Given the description of an element on the screen output the (x, y) to click on. 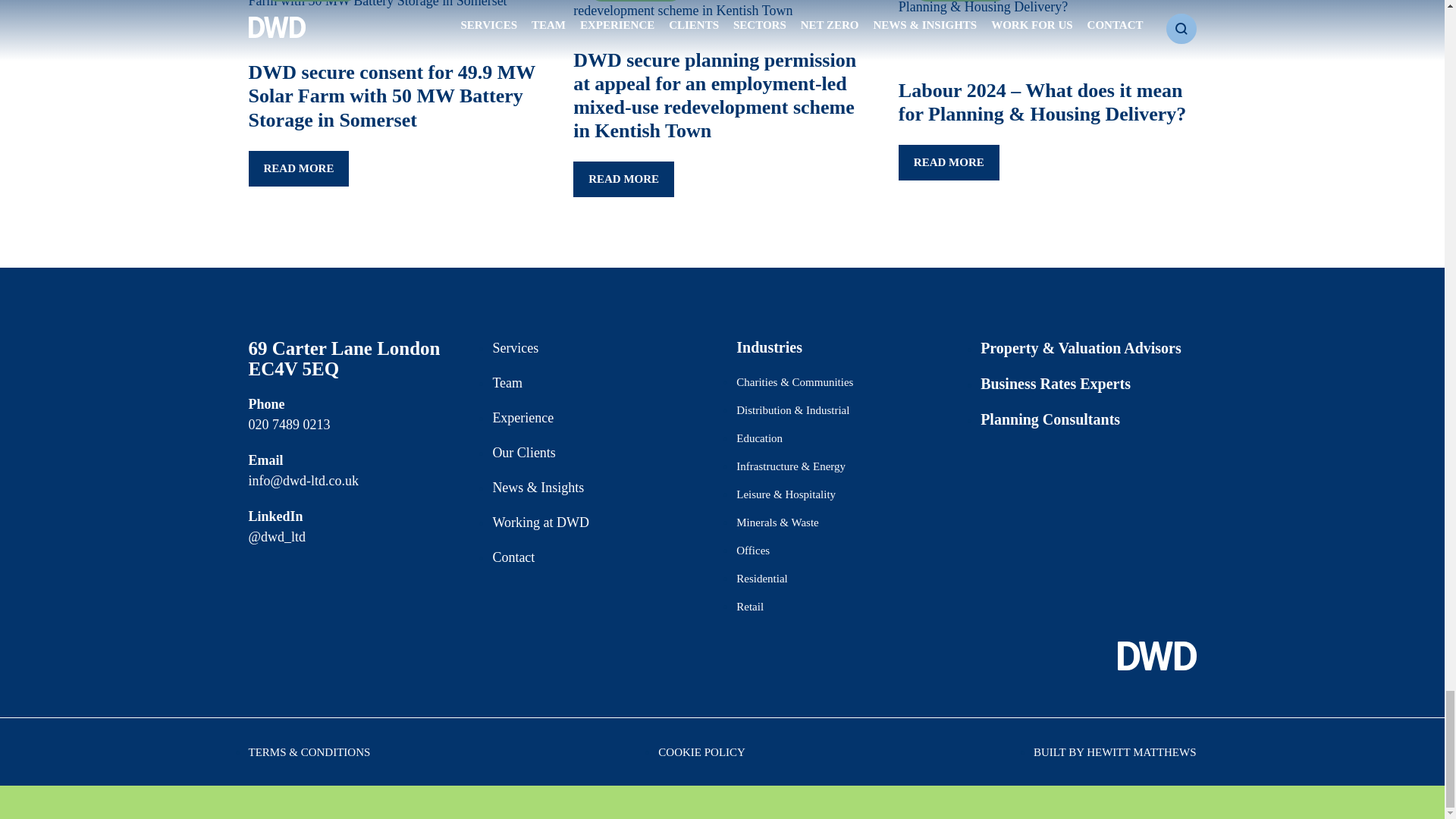
logo-dwd (1157, 655)
